Given the description of an element on the screen output the (x, y) to click on. 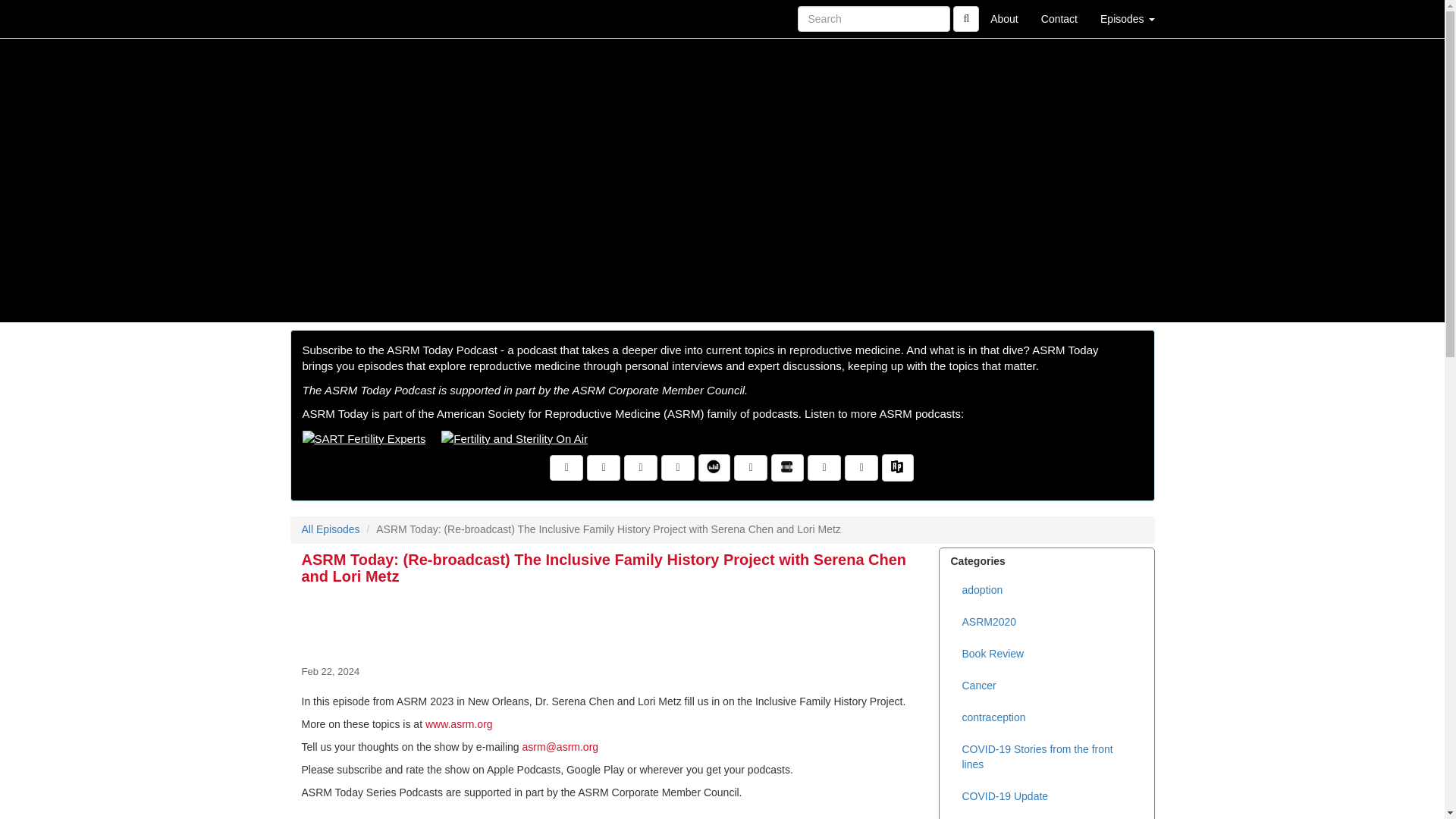
Contact (1059, 18)
Episodes (1127, 18)
About (1003, 18)
Fertility and Sterility On Air Podcast (514, 437)
SART Fertility Experts Podcast (363, 437)
Home Page (320, 18)
